Given the description of an element on the screen output the (x, y) to click on. 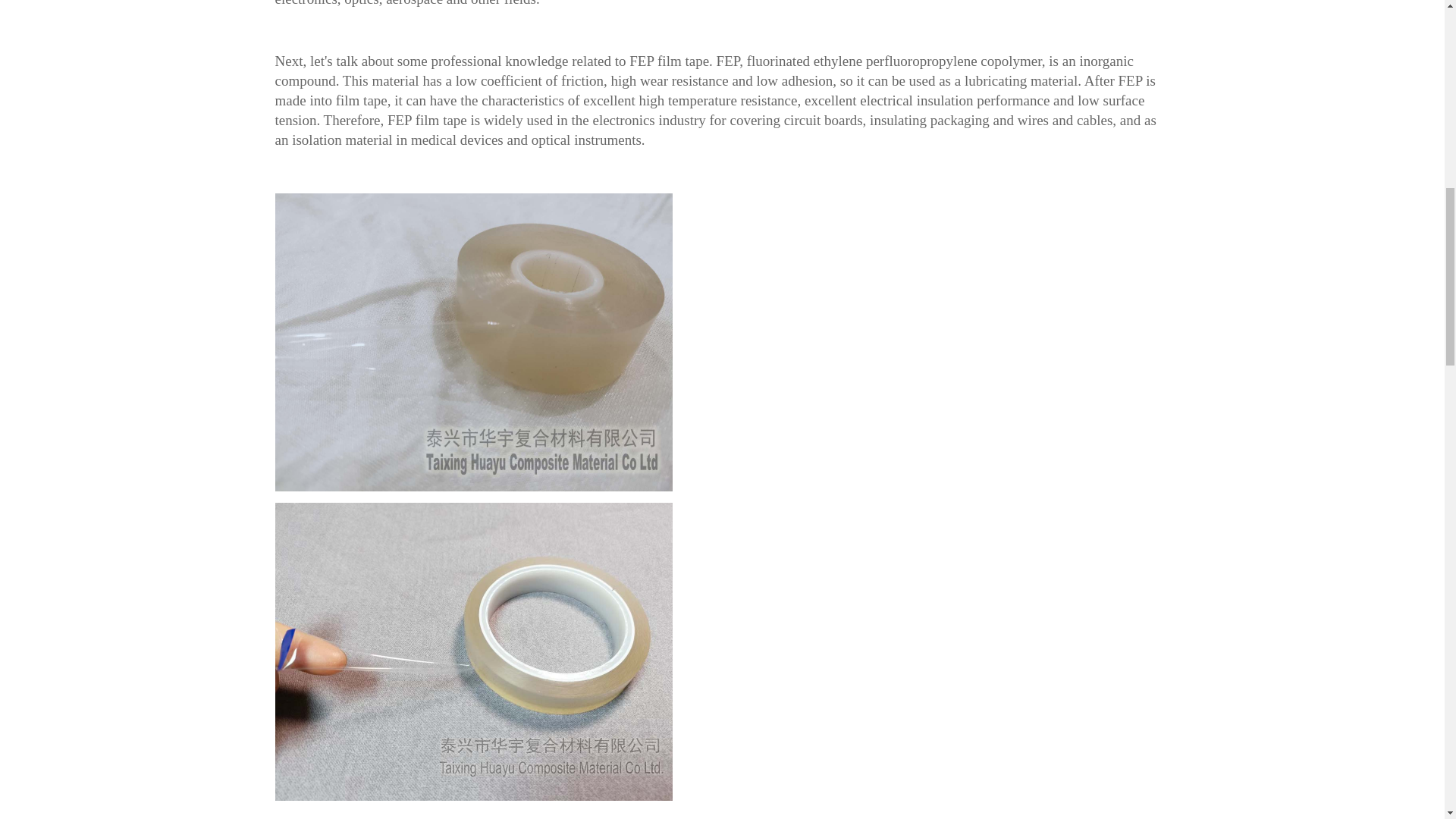
FEP TAPE.jpg (473, 342)
FEP FILM TAPE.jpg (473, 651)
